Given the description of an element on the screen output the (x, y) to click on. 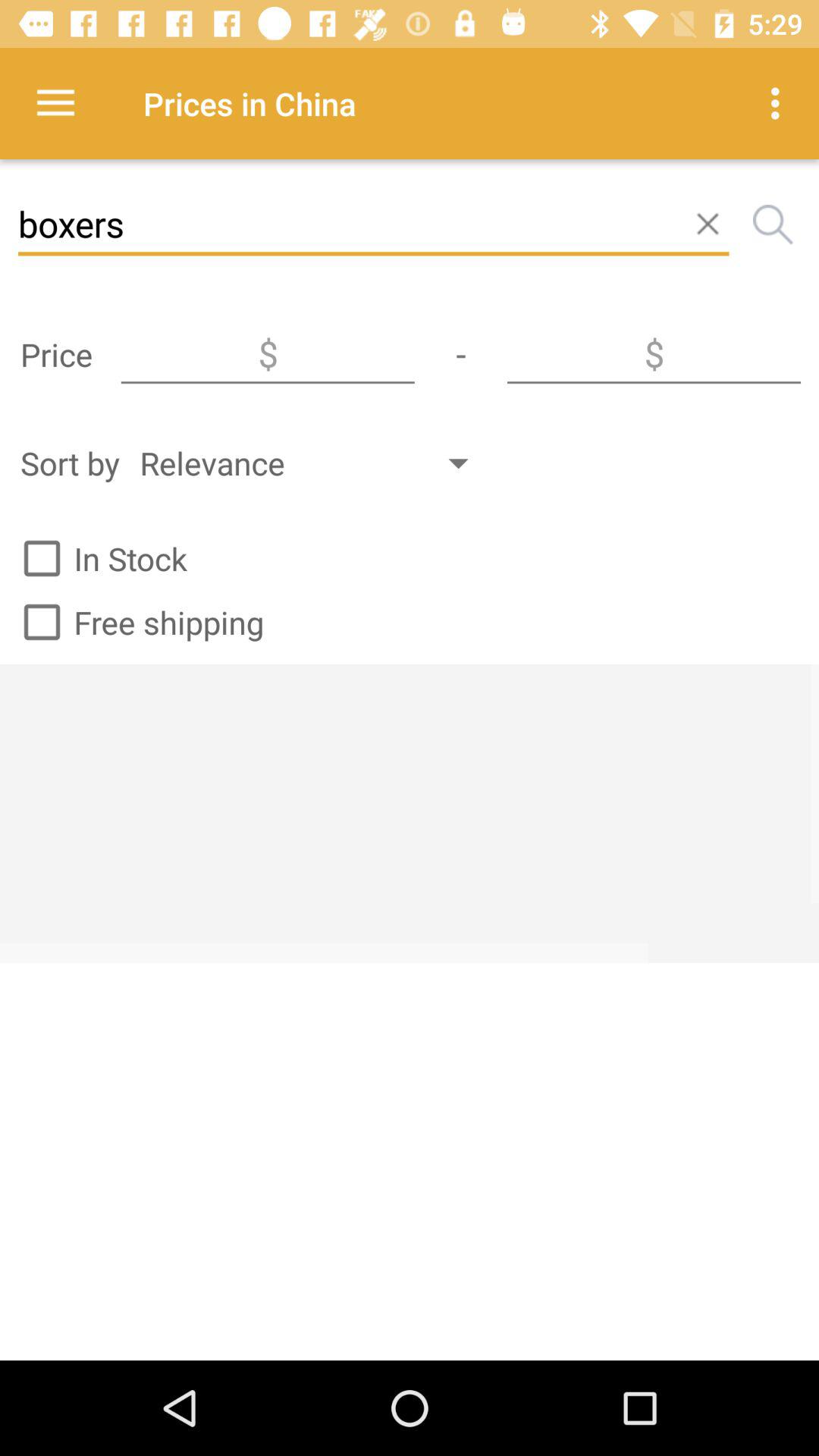
click the item at the center (409, 813)
